Given the description of an element on the screen output the (x, y) to click on. 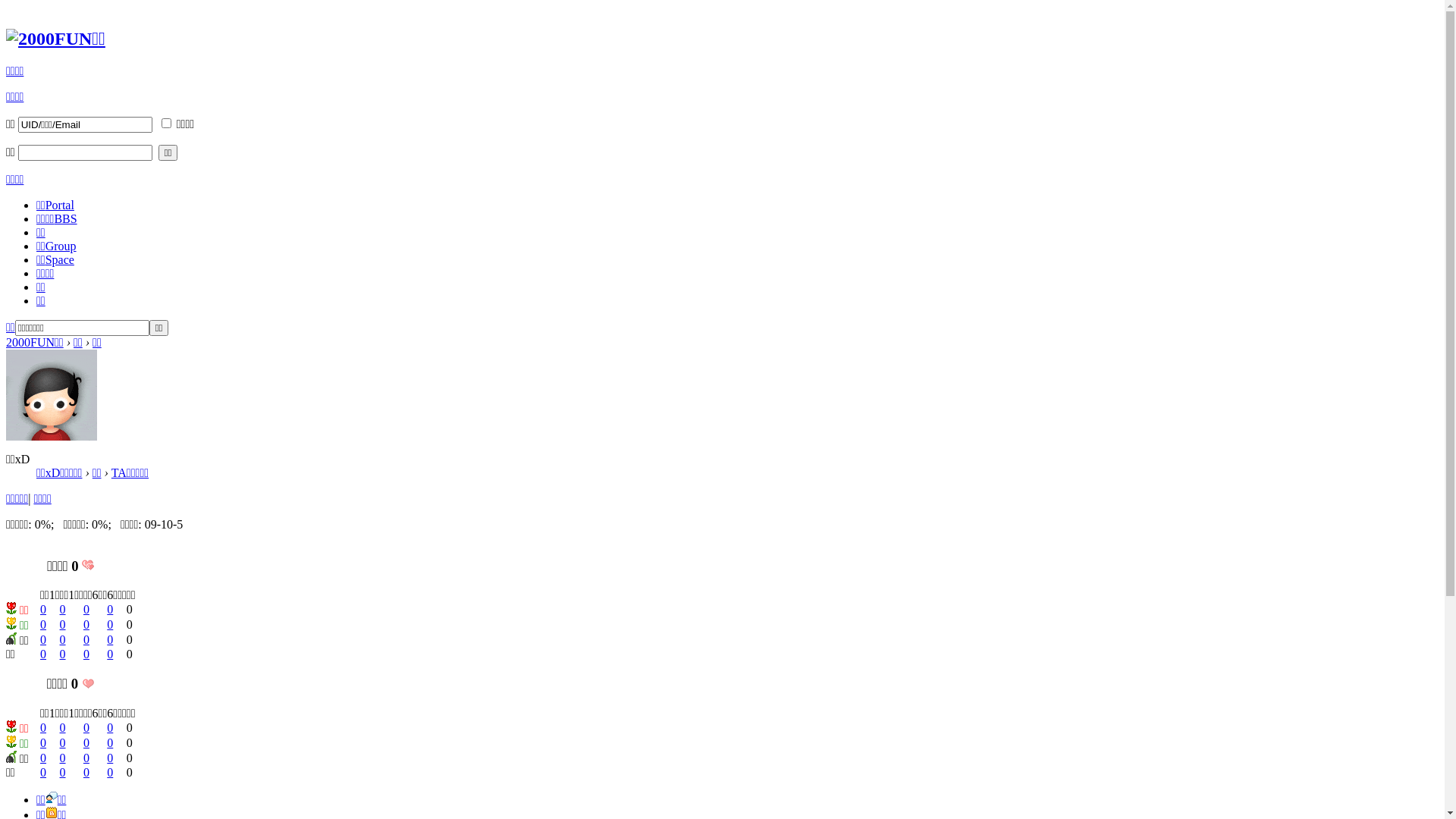
0 Element type: text (109, 624)
0 Element type: text (62, 653)
0 Element type: text (109, 757)
0 Element type: text (86, 727)
0 Element type: text (86, 624)
0 Element type: text (109, 727)
0 Element type: text (109, 653)
0 Element type: text (109, 608)
0 Element type: text (62, 727)
0 Element type: text (109, 742)
0 Element type: text (62, 608)
0 Element type: text (43, 624)
0 Element type: text (62, 771)
0 Element type: text (62, 639)
0 Element type: text (86, 639)
0 Element type: text (43, 653)
0 Element type: text (43, 639)
0 Element type: text (86, 742)
0 Element type: text (62, 624)
0 Element type: text (86, 653)
0 Element type: text (109, 639)
0 Element type: text (43, 608)
0 Element type: text (86, 757)
0 Element type: text (43, 757)
0 Element type: text (43, 727)
0 Element type: text (109, 771)
0 Element type: text (86, 608)
0 Element type: text (43, 771)
0 Element type: text (43, 742)
0 Element type: text (62, 742)
0 Element type: text (62, 757)
0 Element type: text (86, 771)
